Given the description of an element on the screen output the (x, y) to click on. 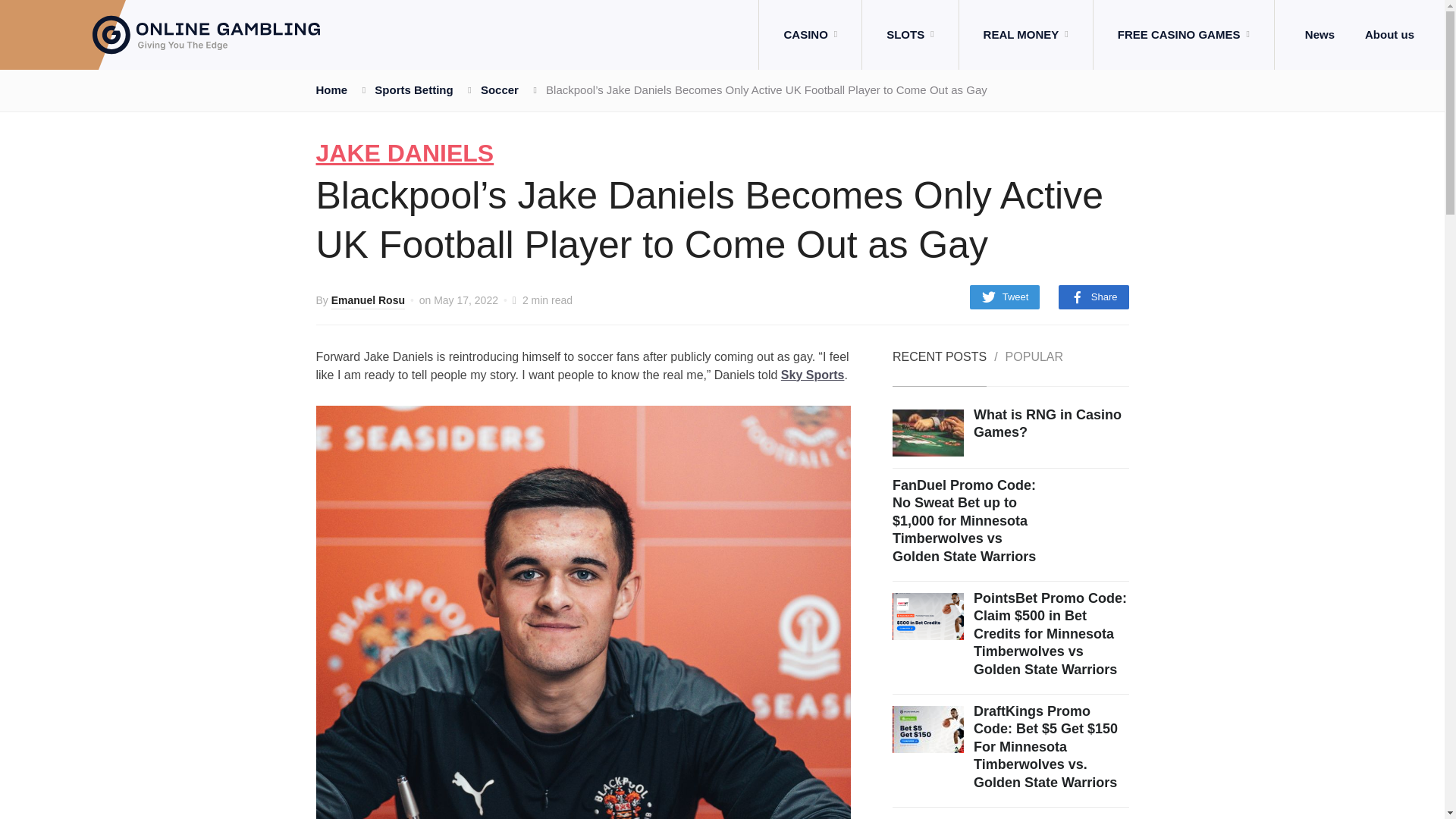
Recent Posts (939, 368)
Share this on Facebook (1093, 297)
Tweet this on Twitter (1005, 297)
CASINO (809, 34)
Posts by Emanuel Rosu (367, 301)
Popular (1034, 368)
